Given the description of an element on the screen output the (x, y) to click on. 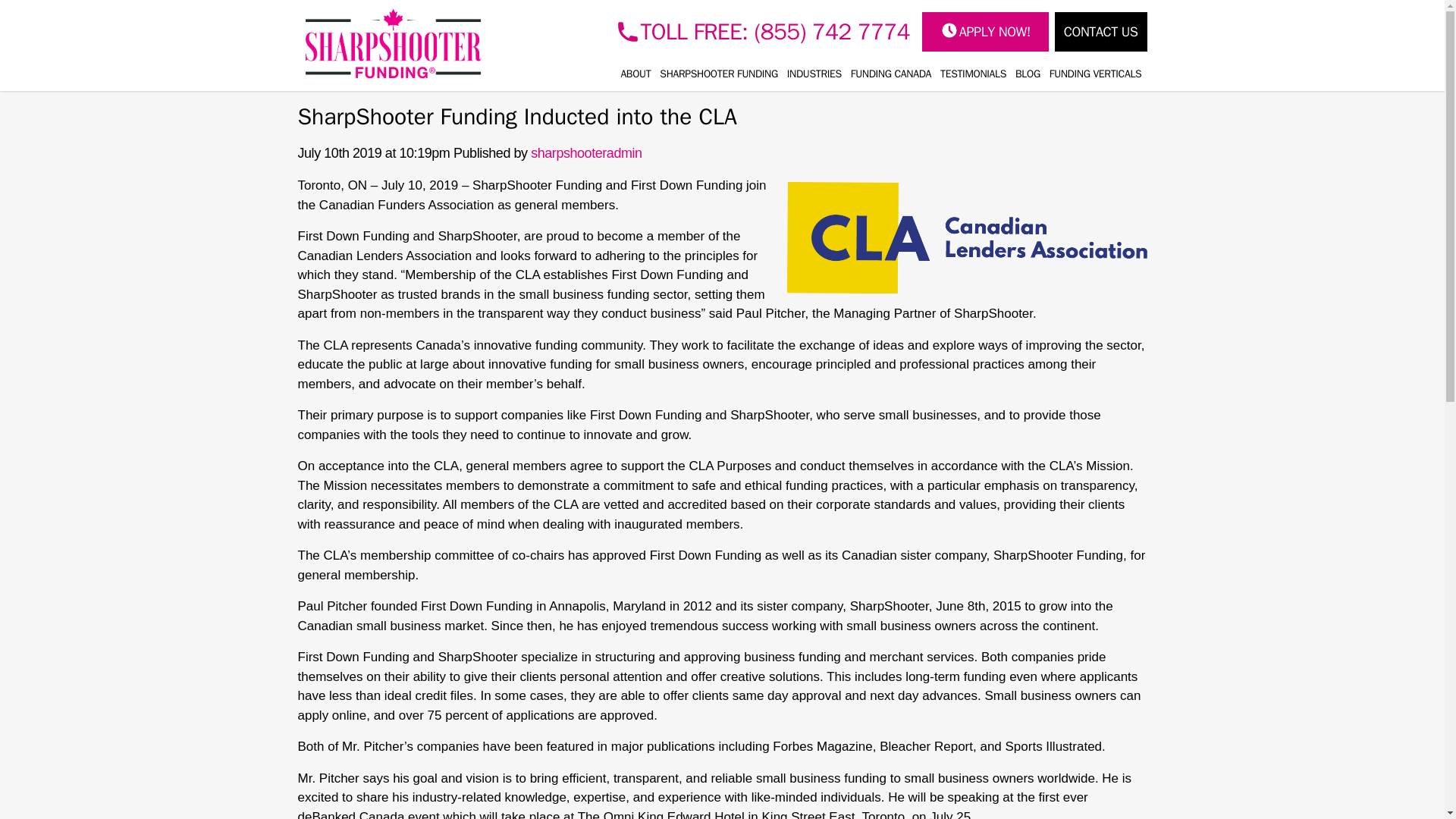
CONTACT US (1100, 31)
ABOUT (635, 73)
APPLY NOW! (984, 31)
